Given the description of an element on the screen output the (x, y) to click on. 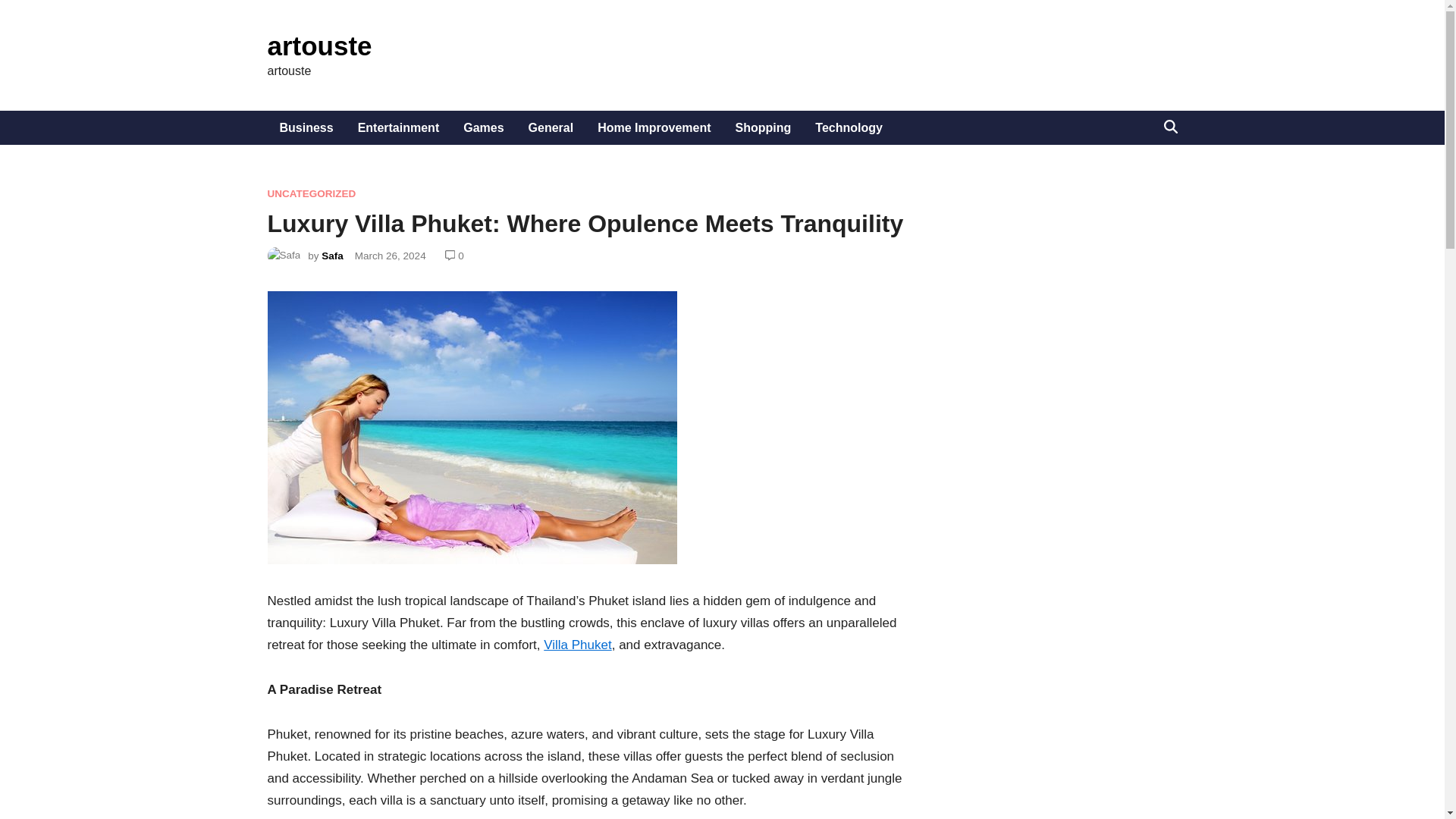
Home Improvement (653, 127)
Shopping (763, 127)
March 26, 2024 (390, 255)
Technology (849, 127)
General (551, 127)
UNCATEGORIZED (310, 193)
Villa Phuket (577, 644)
Business (305, 127)
artouste (318, 45)
Safa (332, 255)
